Given the description of an element on the screen output the (x, y) to click on. 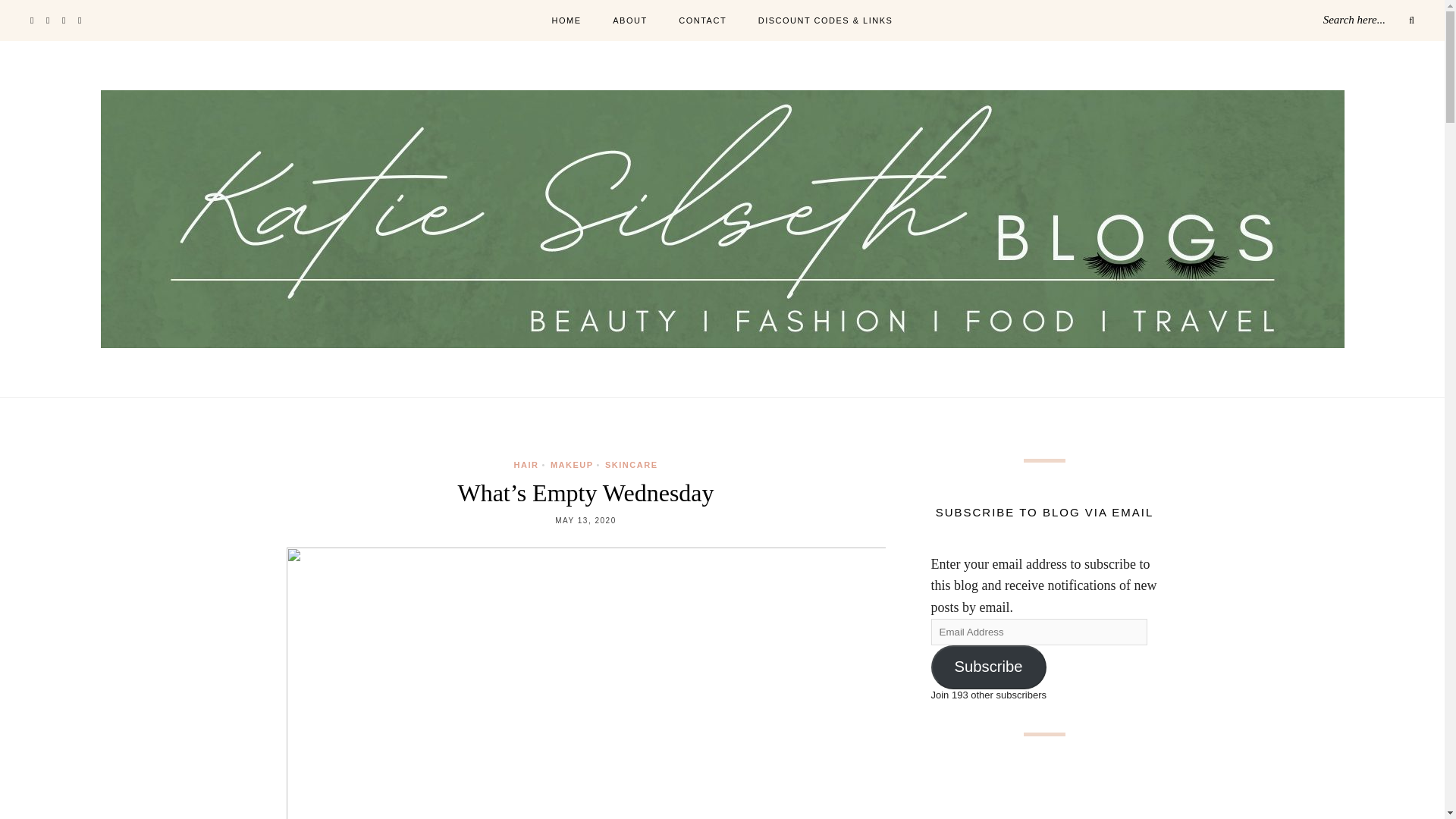
HOME (565, 20)
MAY 13, 2020 (584, 520)
SKINCARE (631, 464)
ABOUT (629, 20)
CONTACT (702, 20)
HAIR (525, 464)
MAKEUP (572, 464)
